Given the description of an element on the screen output the (x, y) to click on. 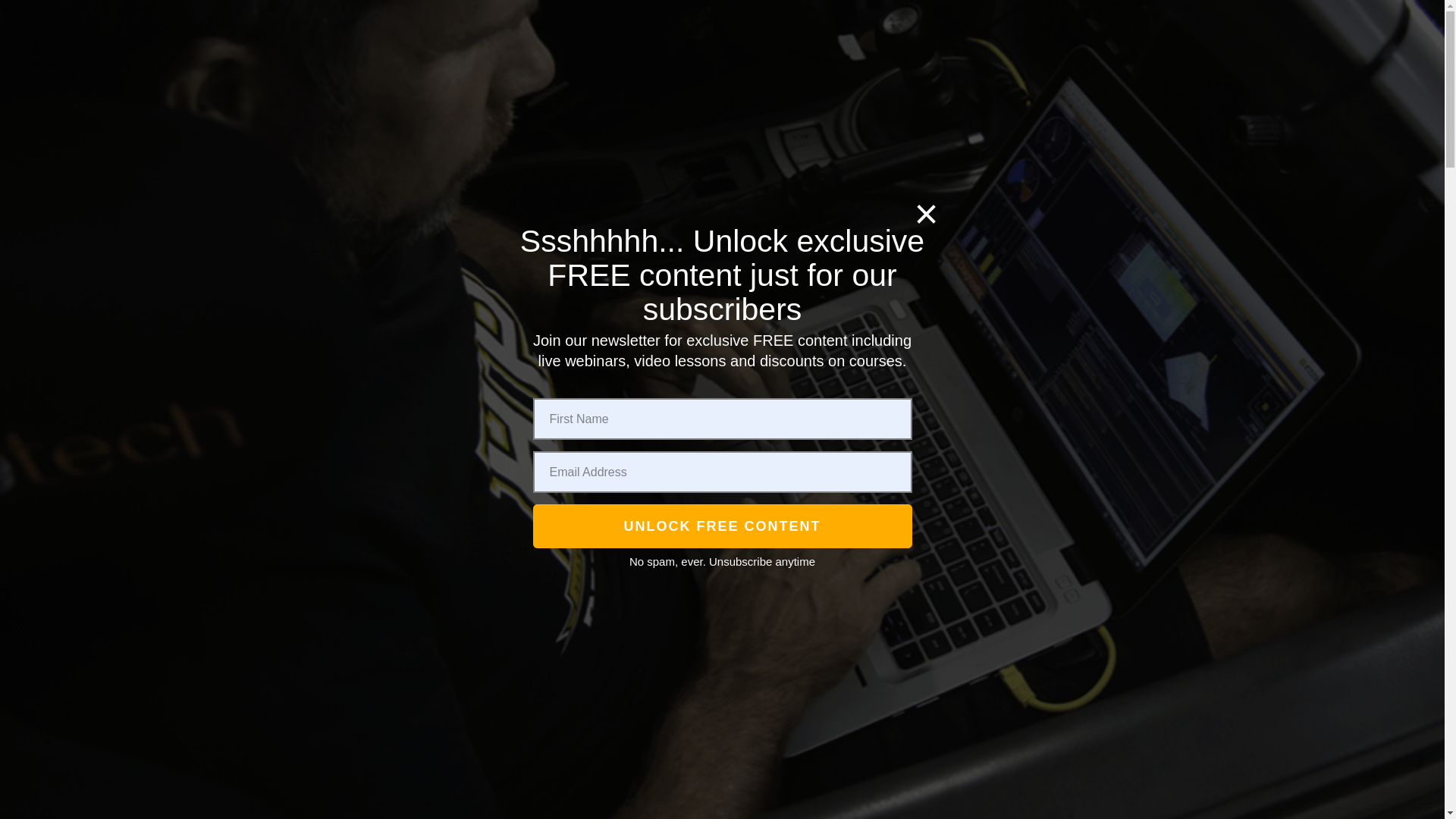
Click here to reply to this topic (314, 563)
MEMBER LOGIN (1110, 163)
STARTER PACKAGES (647, 162)
BLOG (818, 81)
CONTACT US (980, 81)
PODCAST (662, 81)
FREE LESSONS (785, 162)
Click here to view tapeneck (355, 643)
WEBINARS (893, 162)
ABOUT US (746, 81)
FORUM (527, 162)
Click here to view tapeneck (963, 162)
HIGH PERFORMANCE ACADEMY (355, 710)
MEMBER LOGIN (359, 156)
